Given the description of an element on the screen output the (x, y) to click on. 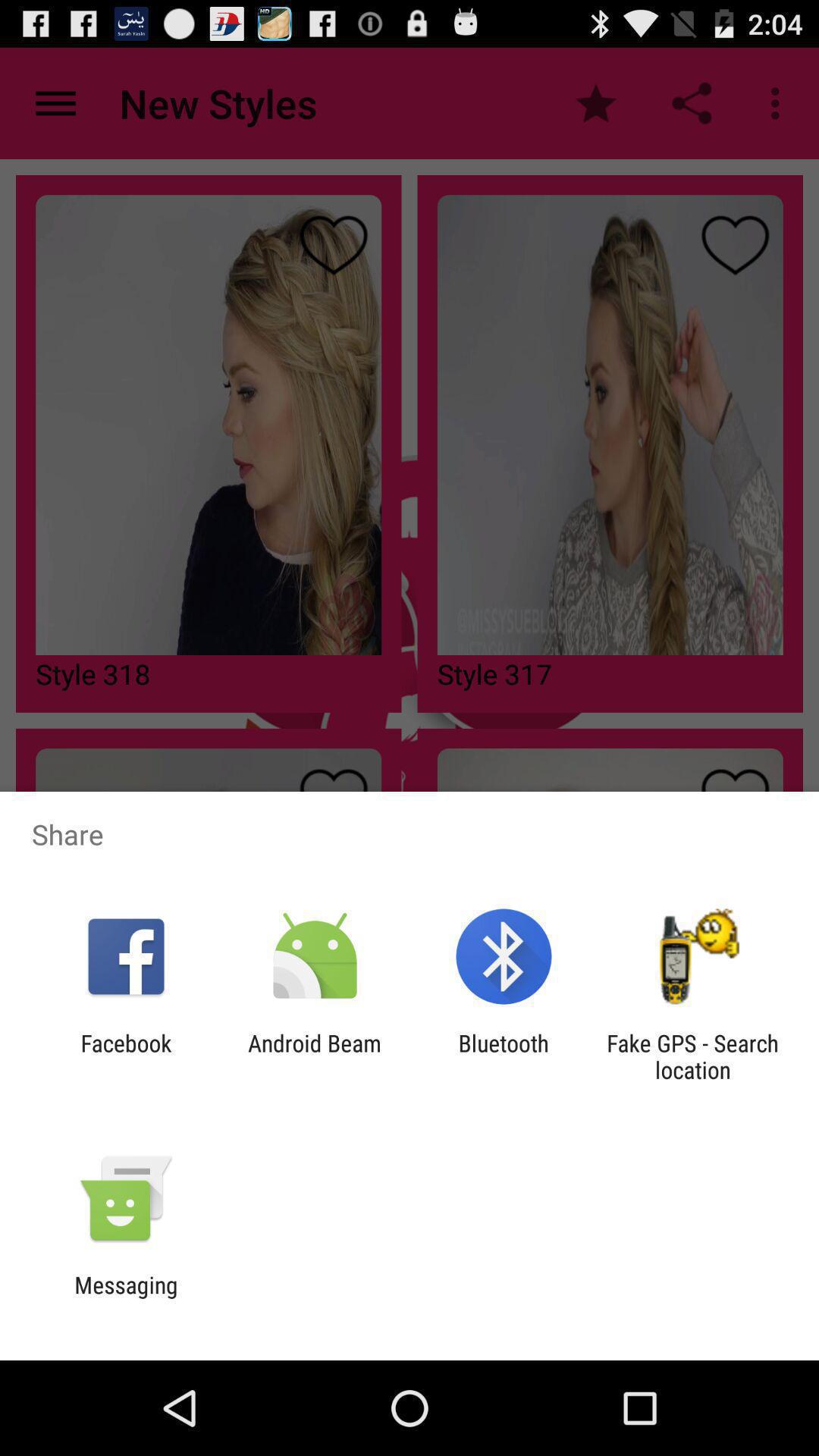
click item next to fake gps search (503, 1056)
